Given the description of an element on the screen output the (x, y) to click on. 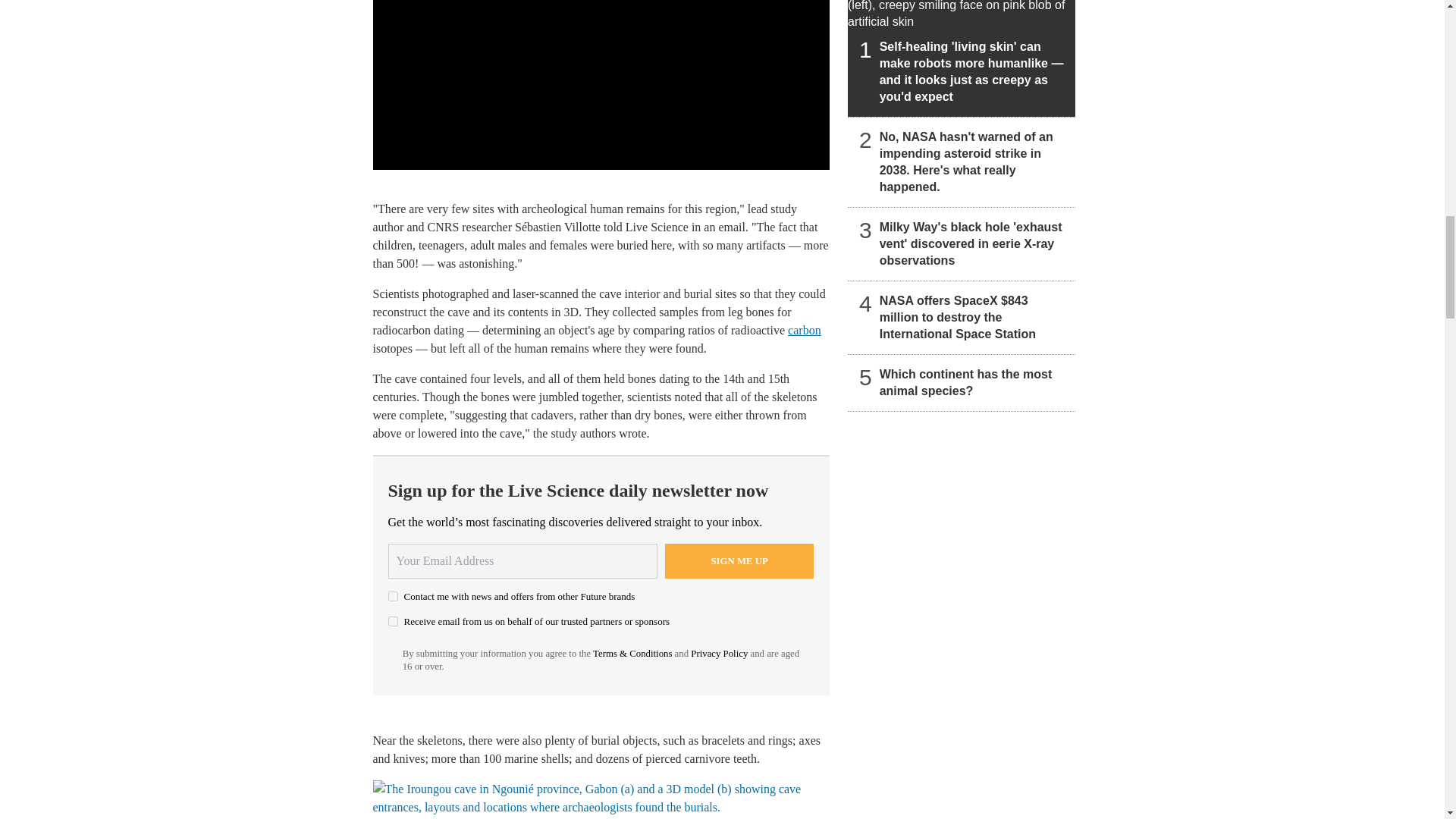
Sign me up (739, 560)
on (392, 621)
on (392, 596)
